Given the description of an element on the screen output the (x, y) to click on. 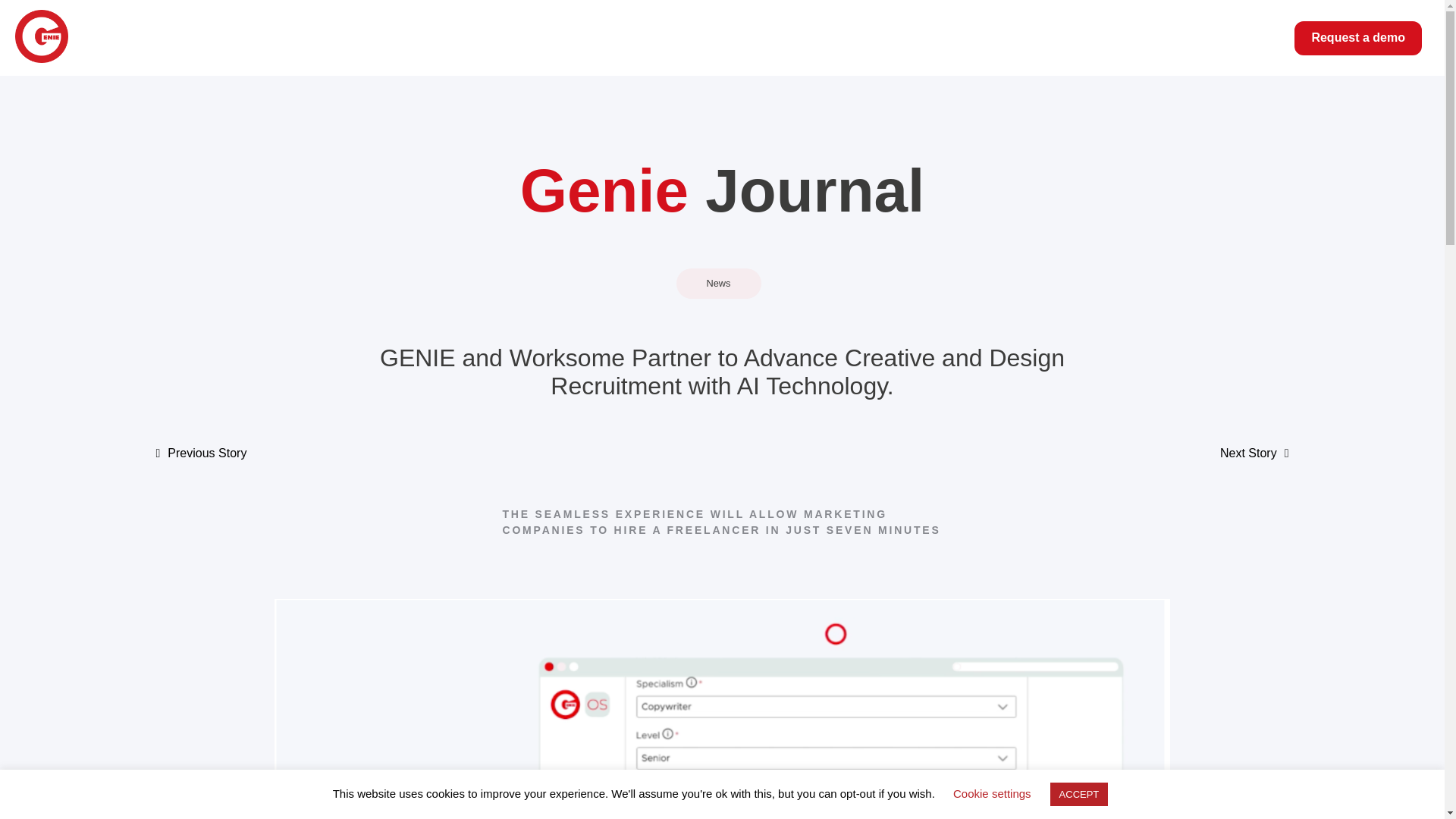
Cookie settings (991, 793)
Next Story (1248, 452)
ACCEPT (1078, 793)
Previous Story (206, 452)
Request a demo (1358, 38)
Request a demo (1358, 37)
